Given the description of an element on the screen output the (x, y) to click on. 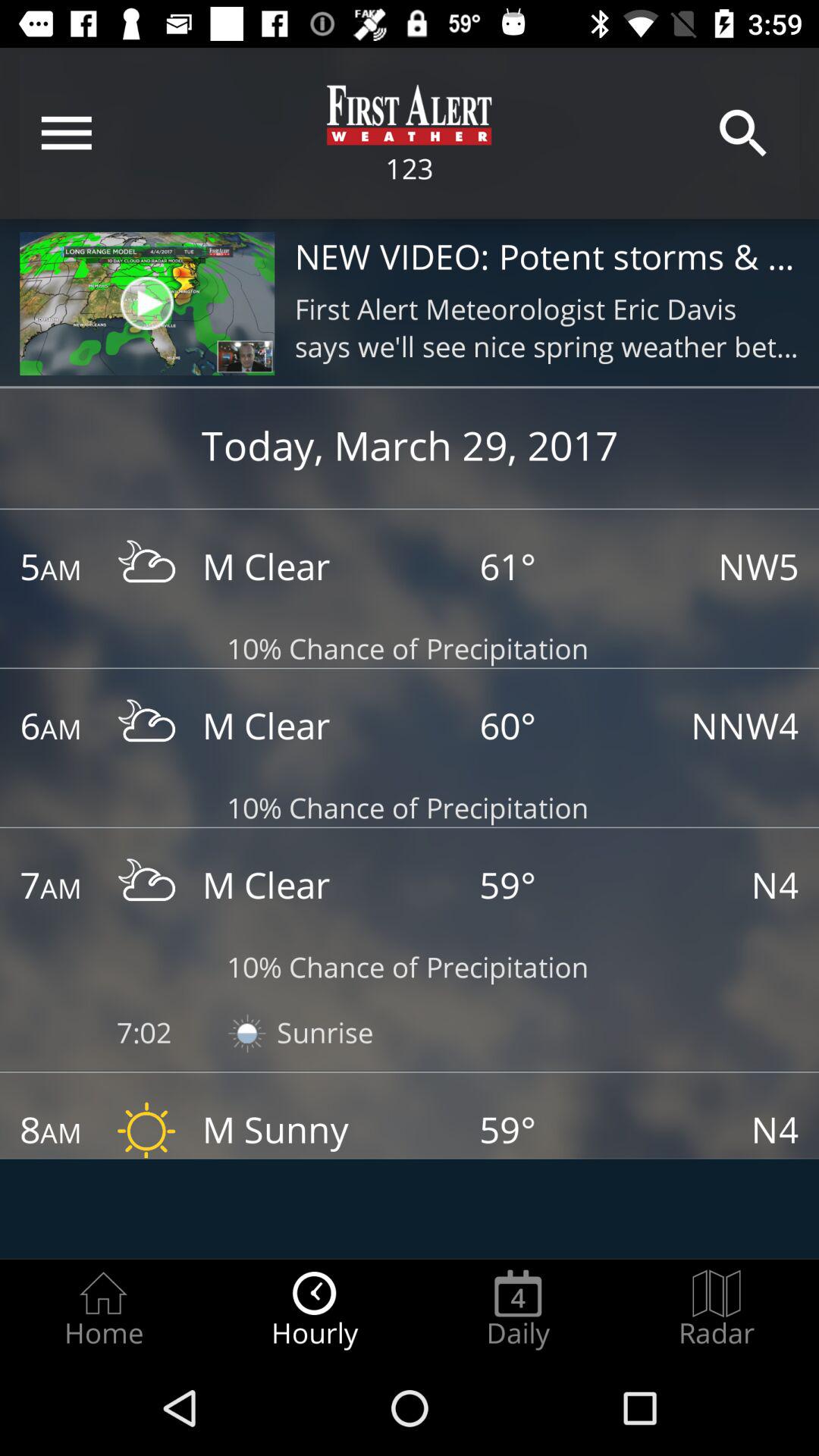
click the item next to the daily icon (716, 1309)
